Given the description of an element on the screen output the (x, y) to click on. 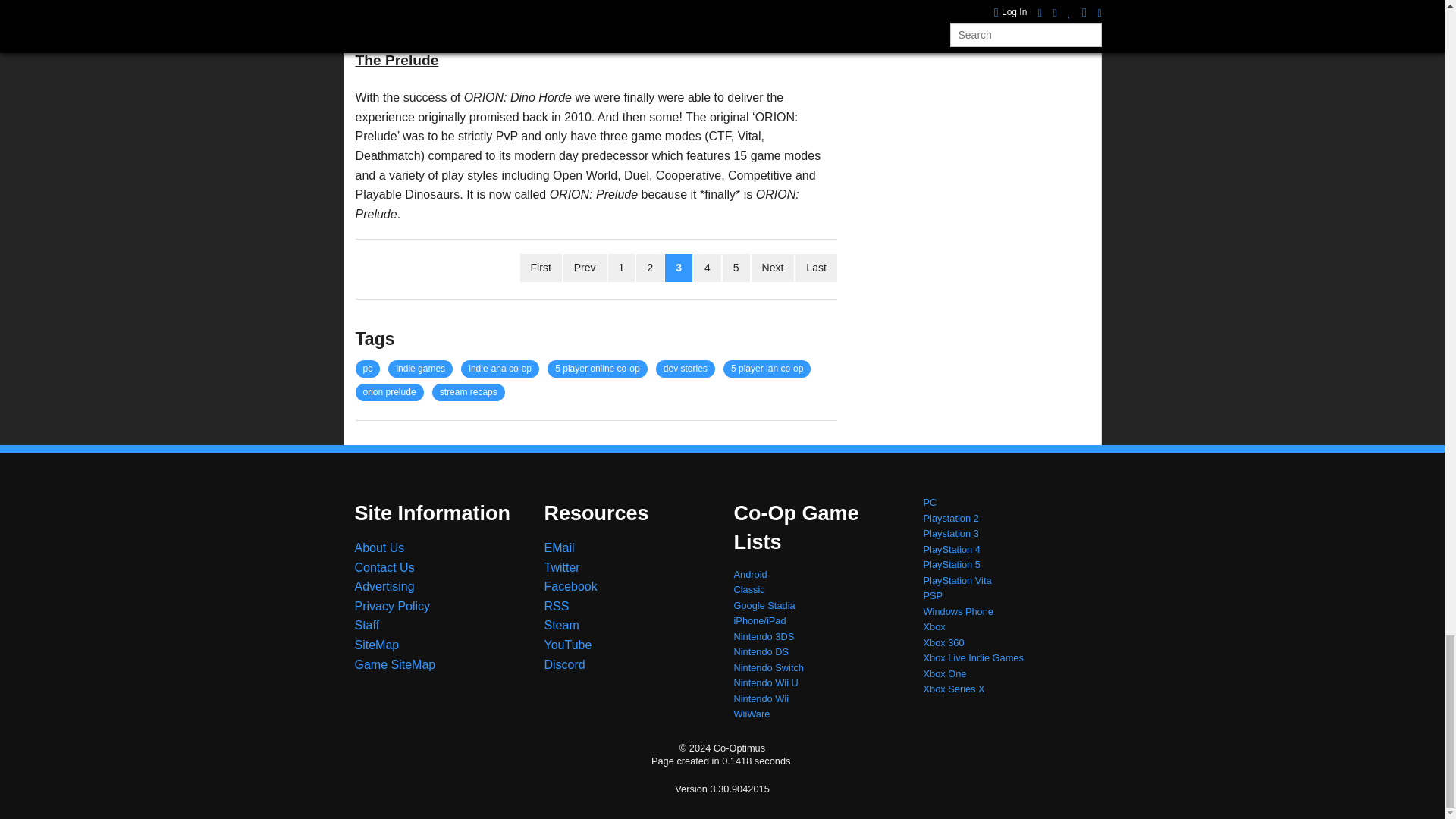
First (540, 267)
Our current staff and bios. (367, 625)
Advertising rates and traffic numbers. (384, 585)
Join our Steam Group! (561, 625)
